Given the description of an element on the screen output the (x, y) to click on. 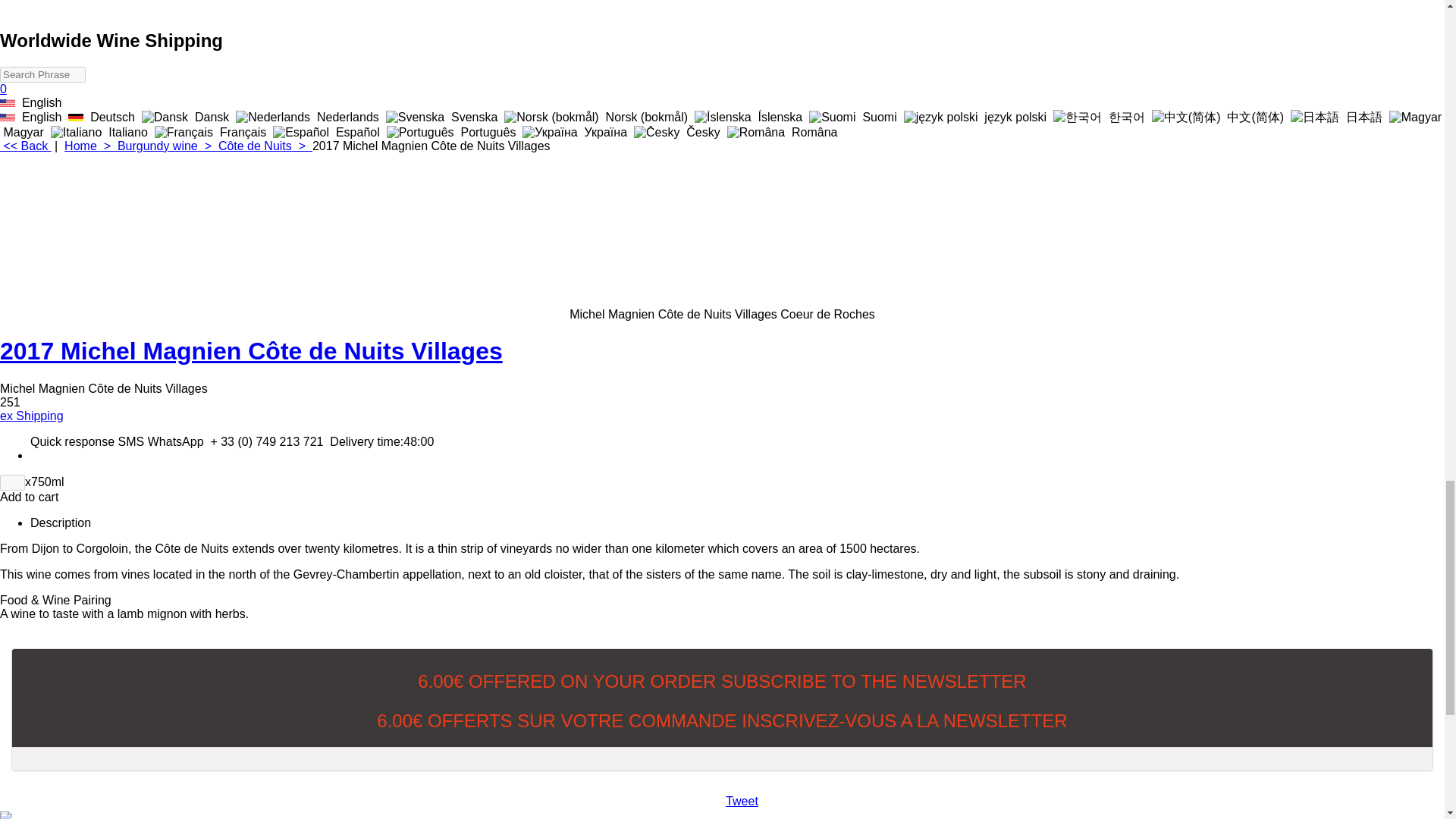
Suomi (832, 117)
 Suomi  (854, 116)
Tweet (741, 800)
 Svenska  (442, 116)
 Dansk  (186, 116)
Svenska (414, 117)
Wine Shop (56, 7)
 Italiano  (100, 132)
ex Shipping (32, 415)
 Nederlands  (308, 116)
English (7, 103)
Nederlands (272, 117)
Deutsch (75, 117)
 English  (32, 116)
 Magyar  (720, 124)
